Given the description of an element on the screen output the (x, y) to click on. 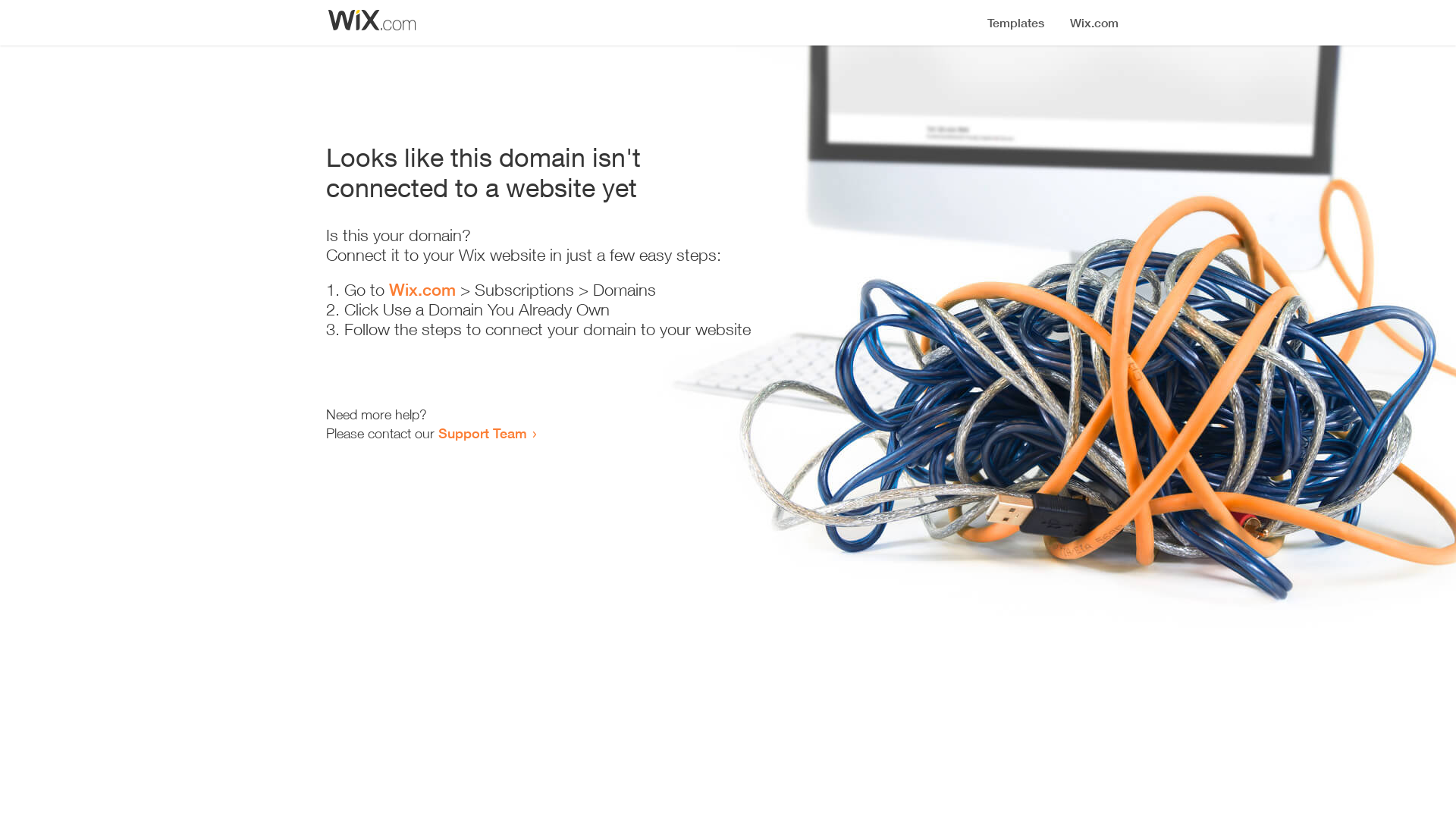
Support Team Element type: text (482, 432)
Wix.com Element type: text (422, 289)
